Given the description of an element on the screen output the (x, y) to click on. 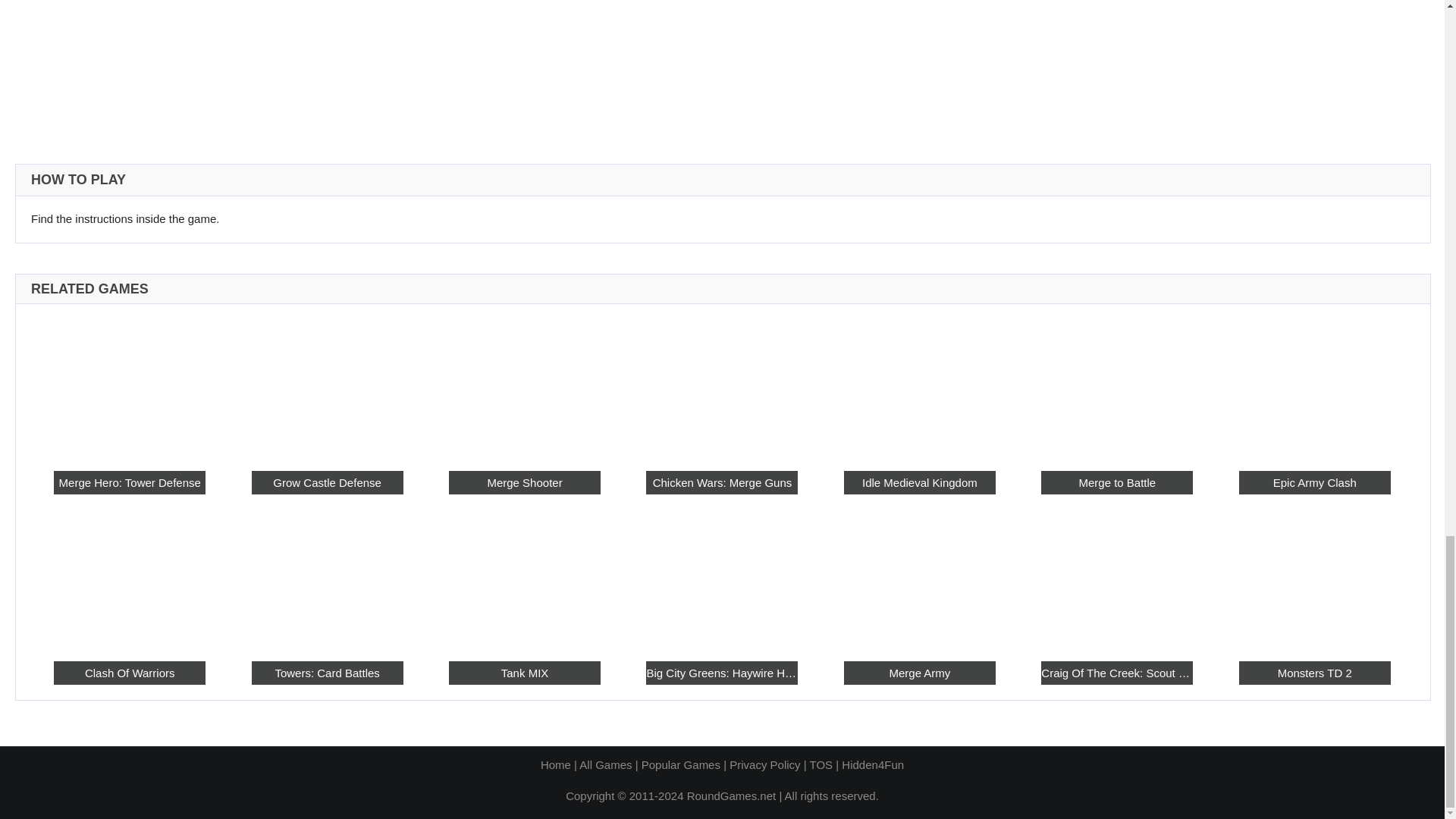
Merge Shooter (523, 482)
Epic Army Clash (1314, 482)
Merge Hero: Tower Defense (129, 386)
Idle Medieval Kingdom (919, 482)
Chicken Wars: Merge Guns (721, 386)
Idle Medieval Kingdom (919, 386)
Grow Castle Defense (327, 482)
Epic Army Clash (1314, 386)
Merge to Battle (1116, 386)
Merge to Battle (1116, 482)
Chicken Wars: Merge Guns (721, 482)
Merge Shooter (523, 386)
Merge Hero: Tower Defense (129, 482)
Grow Castle Defense (327, 386)
